Given the description of an element on the screen output the (x, y) to click on. 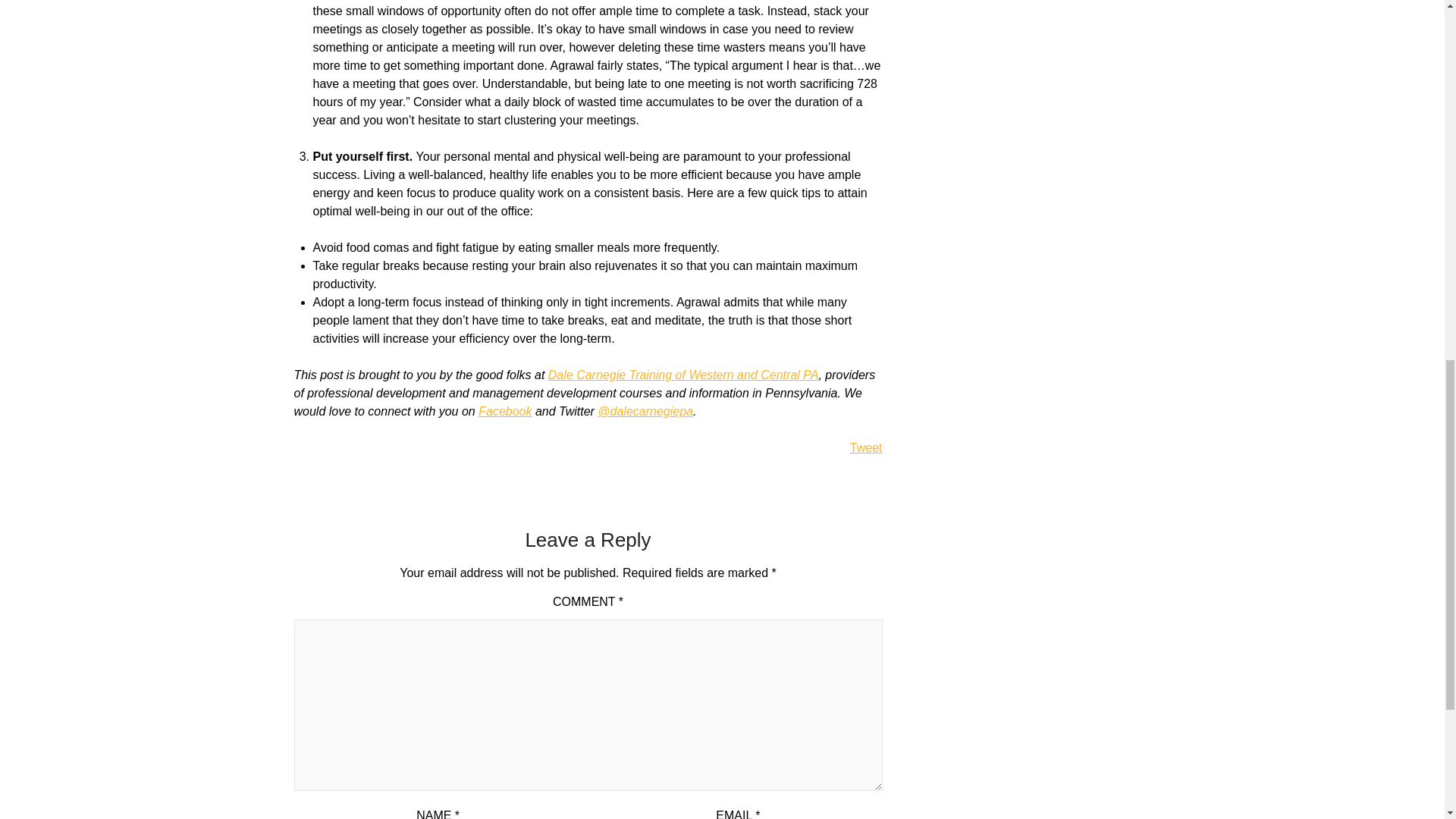
Dale Carnegie Training of Western and Central PA (683, 374)
Tweet (866, 447)
Facebook (505, 410)
